Given the description of an element on the screen output the (x, y) to click on. 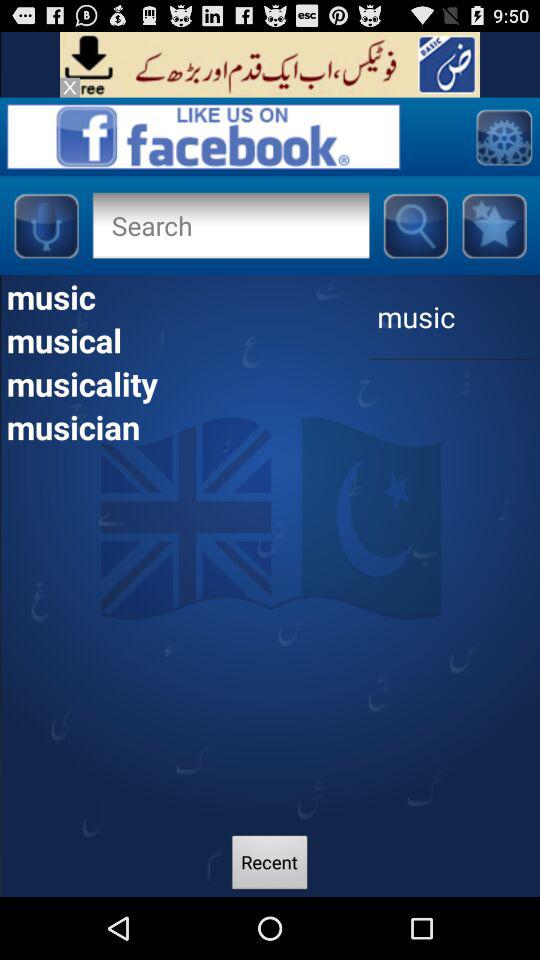
close the tab (69, 87)
